Given the description of an element on the screen output the (x, y) to click on. 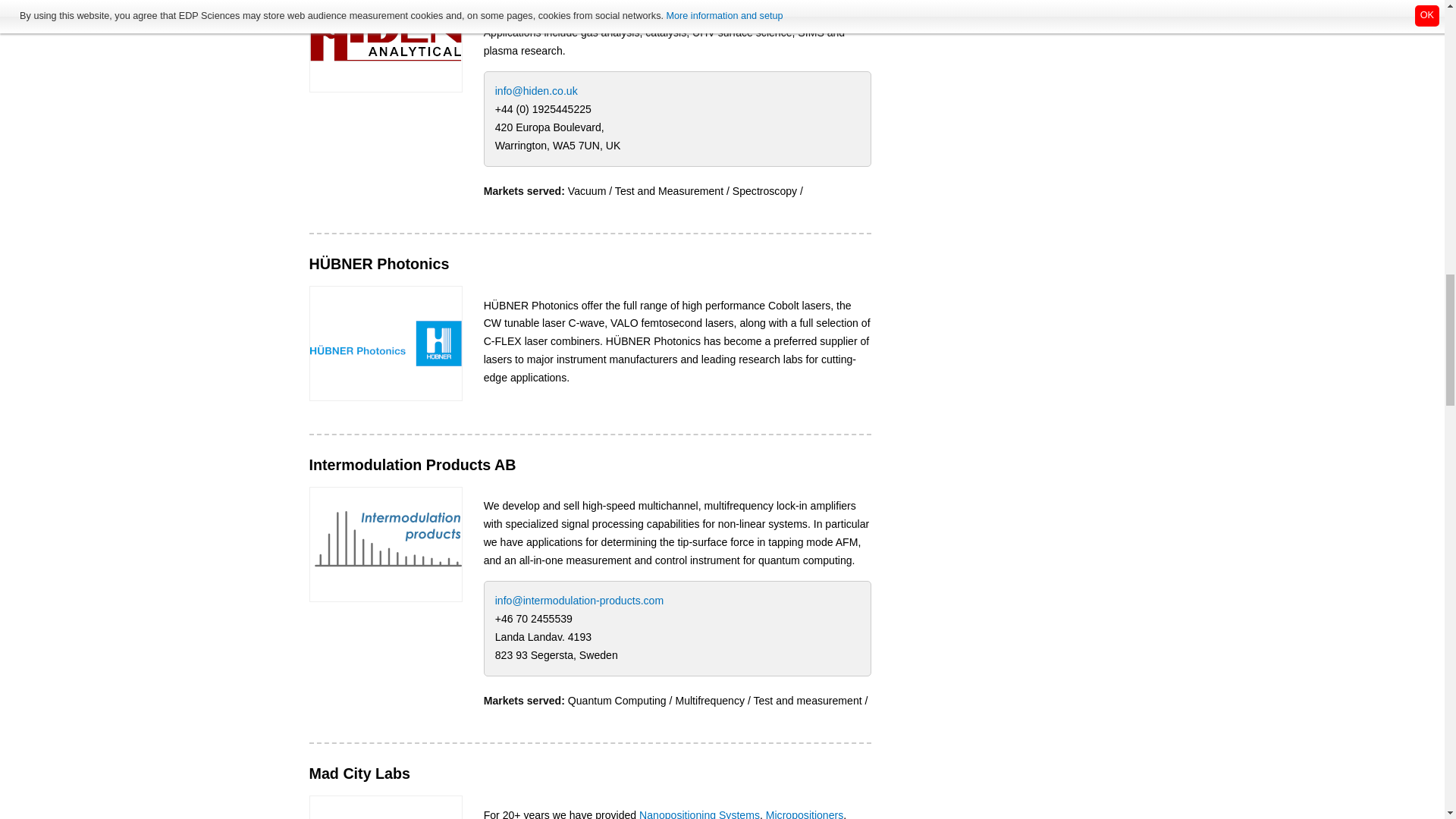
Access the website (385, 33)
Access the website (385, 543)
Access the website (385, 342)
